Given the description of an element on the screen output the (x, y) to click on. 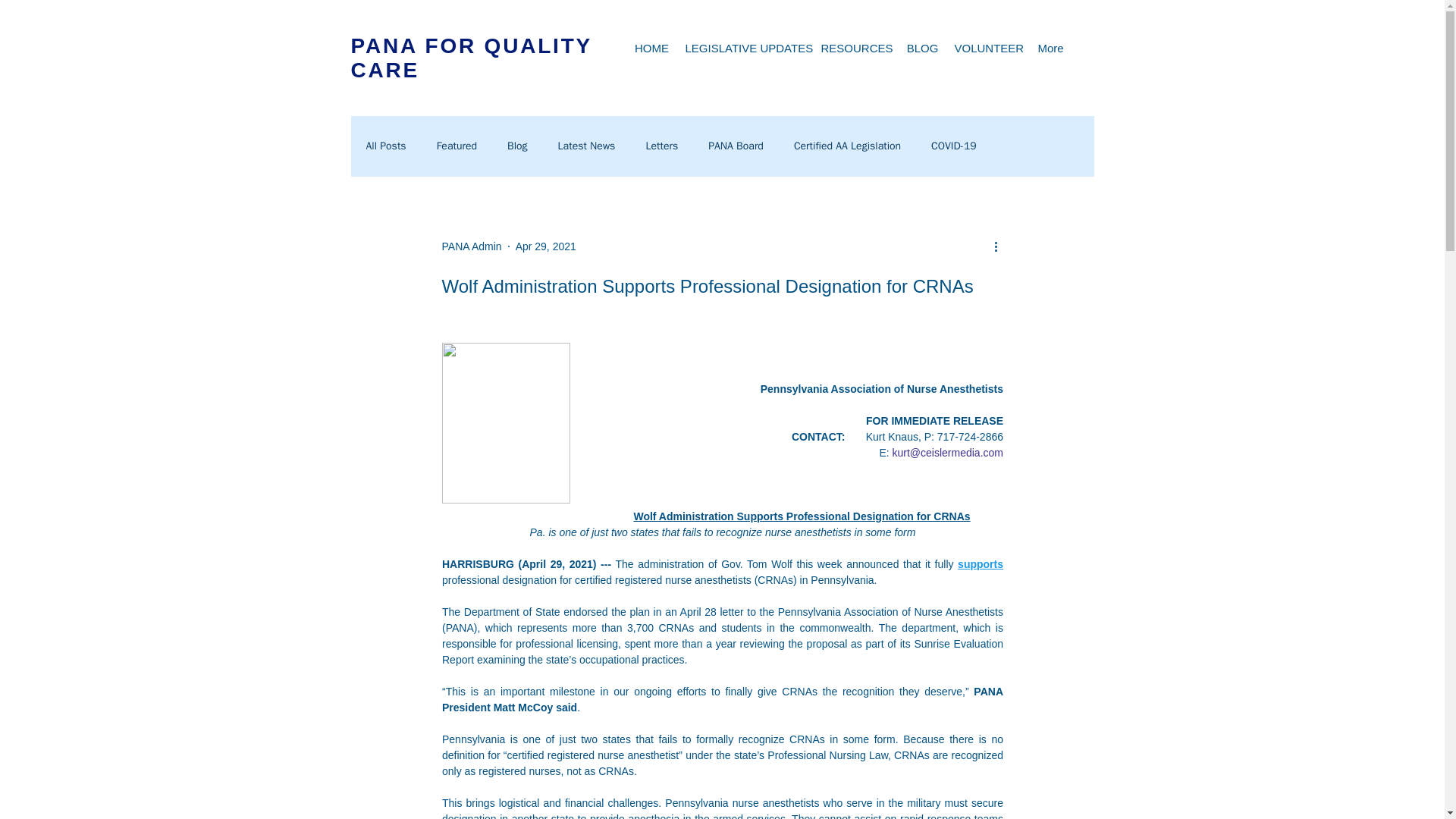
Featured (456, 146)
PANA FOR QUALITY CARE (470, 57)
COVID-19 (953, 146)
Certified AA Legislation (847, 146)
PANA Admin (470, 245)
All Posts (385, 146)
Apr 29, 2021 (545, 245)
PANA Board (734, 146)
VOLUNTEER (987, 47)
supports (980, 563)
Blog (516, 146)
HOME (652, 47)
LEGISLATIVE UPDATES (745, 47)
Letters (661, 146)
BLOG (922, 47)
